Given the description of an element on the screen output the (x, y) to click on. 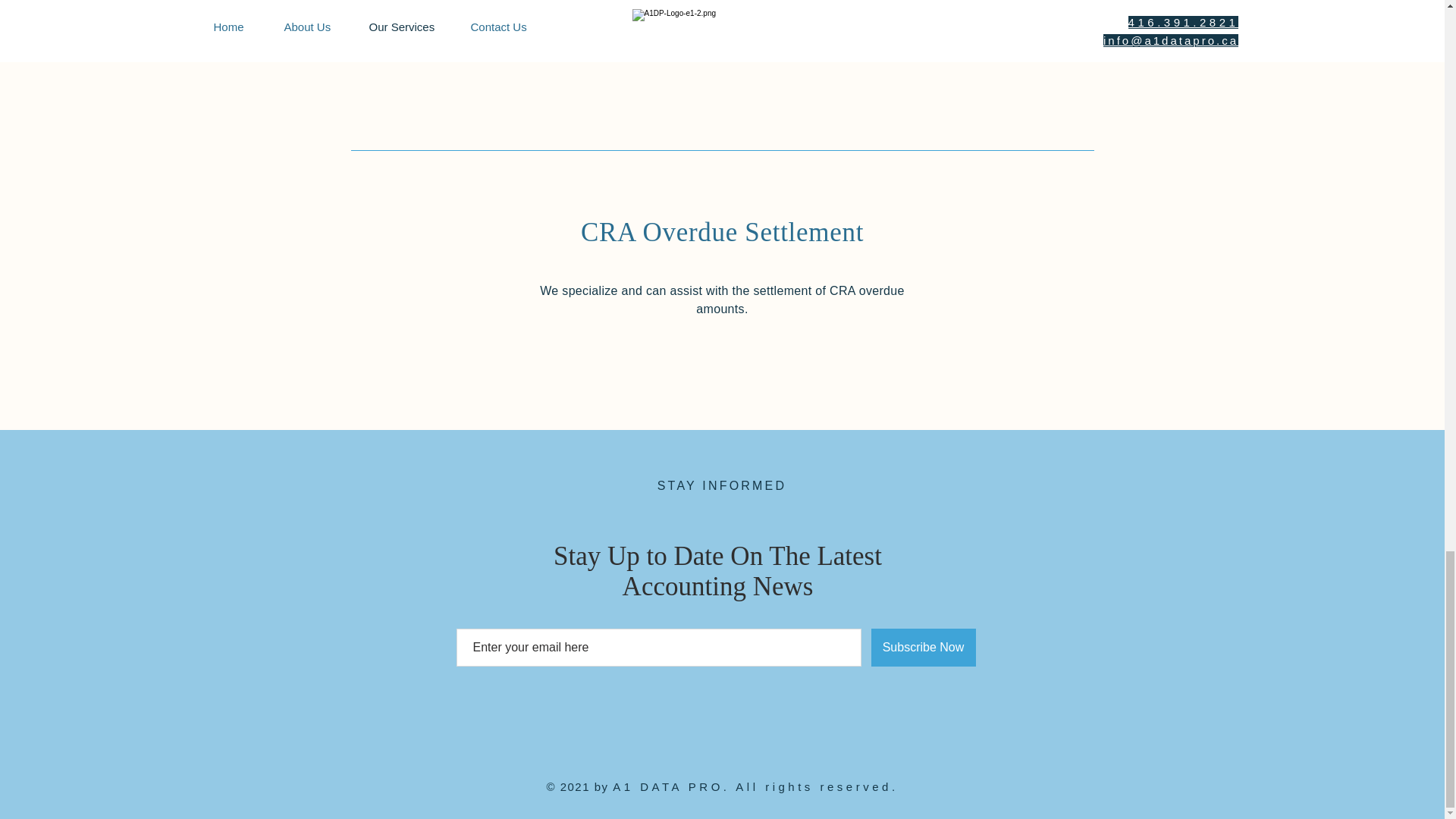
Subscribe Now (922, 647)
